Given the description of an element on the screen output the (x, y) to click on. 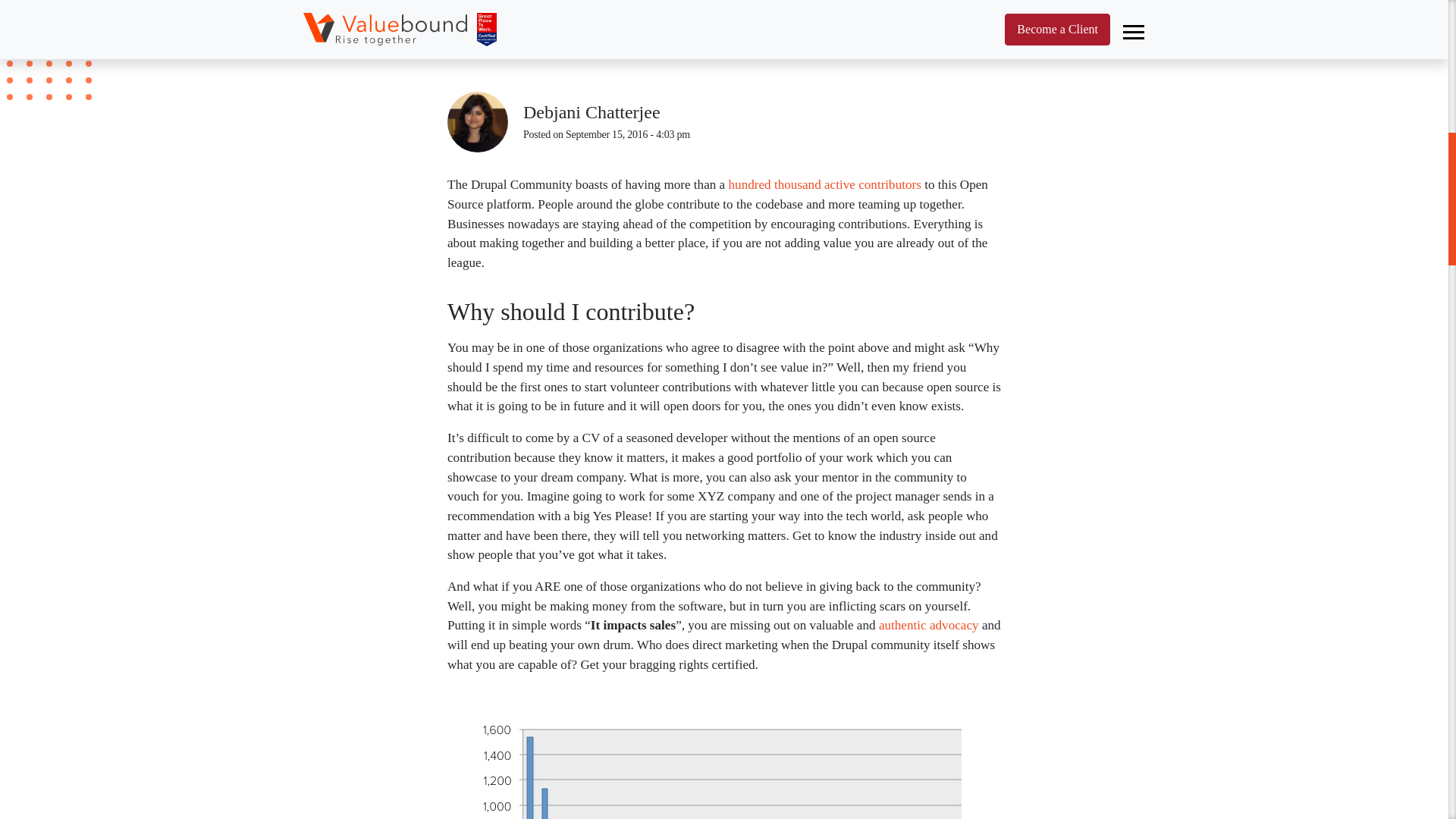
hundred thousand active contributors (824, 184)
Share to X (943, 122)
authentic advocacy (928, 625)
Share to Linkedin (981, 122)
Share to Facebook (905, 122)
